Given the description of an element on the screen output the (x, y) to click on. 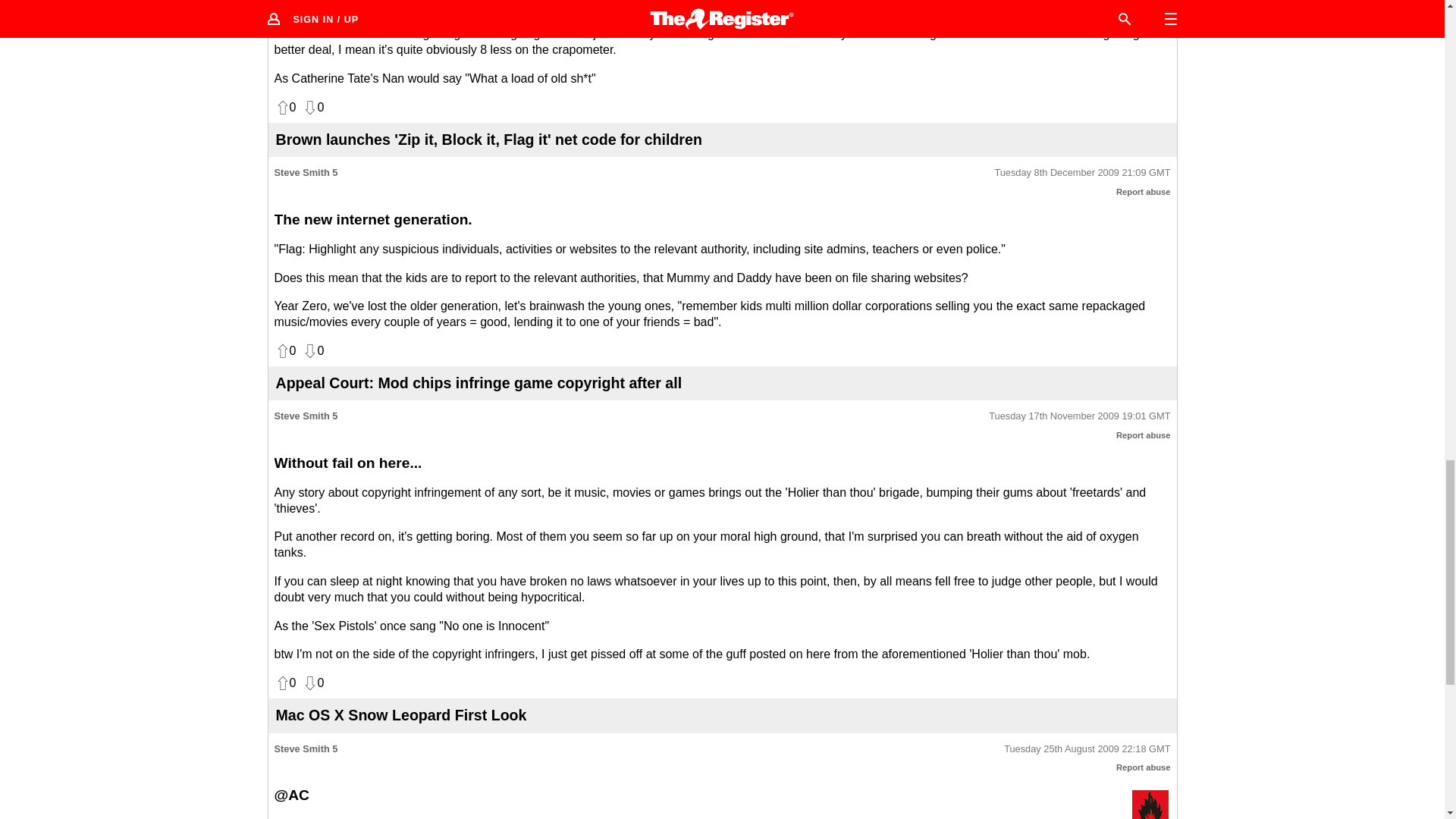
Report abuse (1143, 767)
Report abuse (1143, 191)
Report abuse (1143, 434)
